Given the description of an element on the screen output the (x, y) to click on. 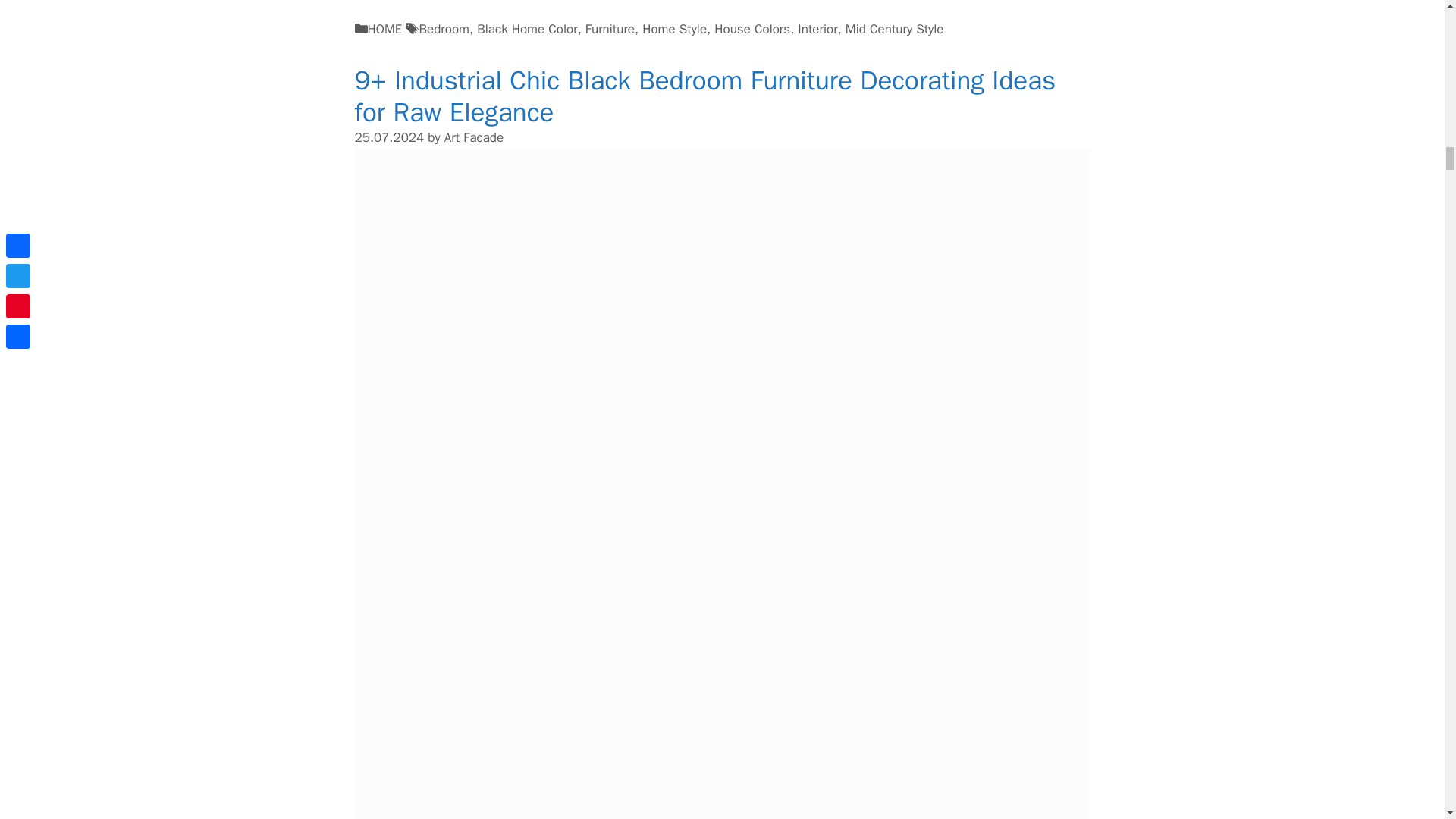
View all posts by Art Facade (473, 137)
